Given the description of an element on the screen output the (x, y) to click on. 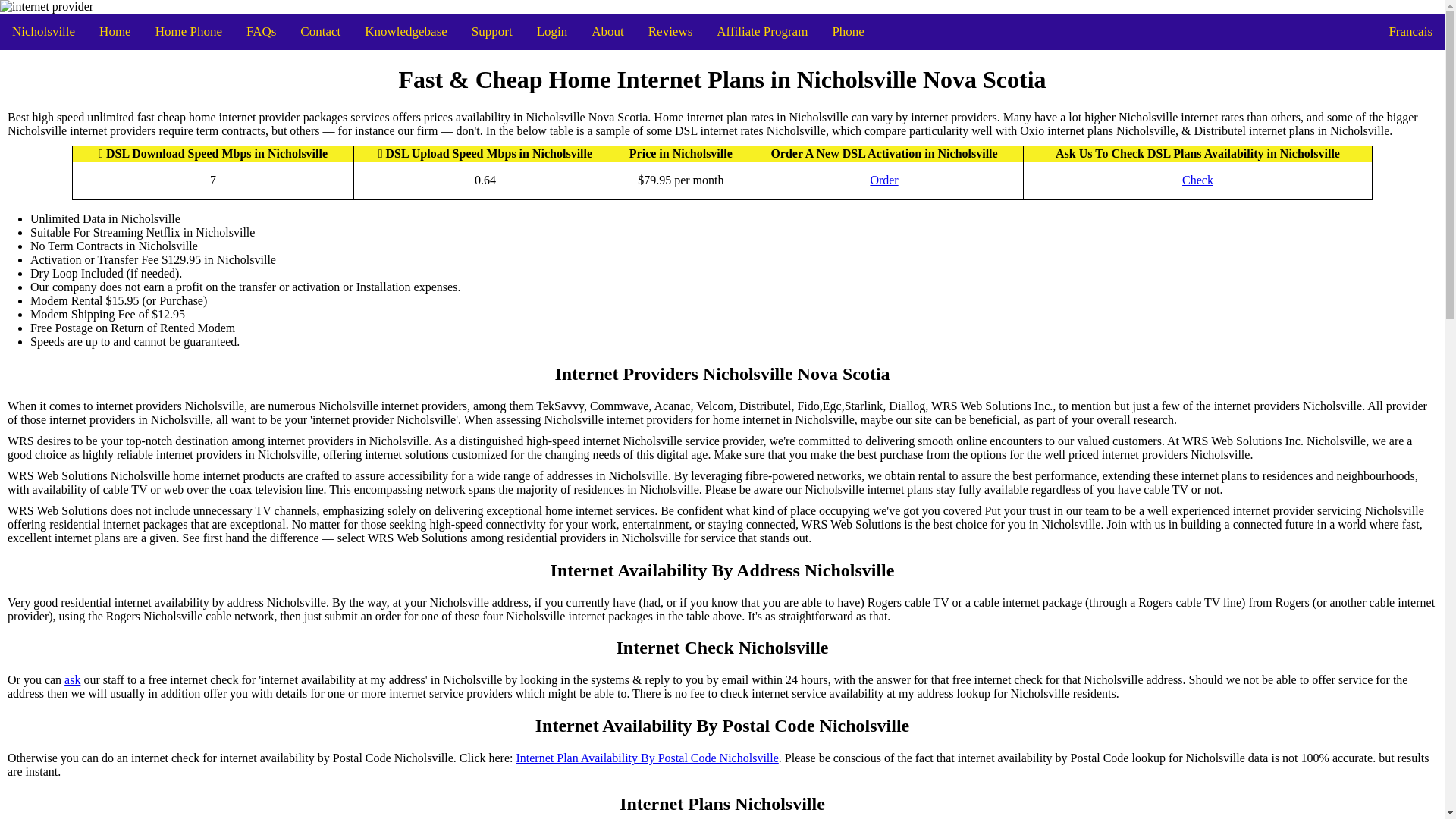
Support (492, 31)
Knowledgebase (406, 31)
About (607, 31)
Nicholsville (43, 31)
Internet Plan Availability By Postal Code Nicholsville (646, 757)
Order (883, 180)
Phone (847, 31)
Login (551, 31)
ask (72, 680)
Check (1197, 180)
